Given the description of an element on the screen output the (x, y) to click on. 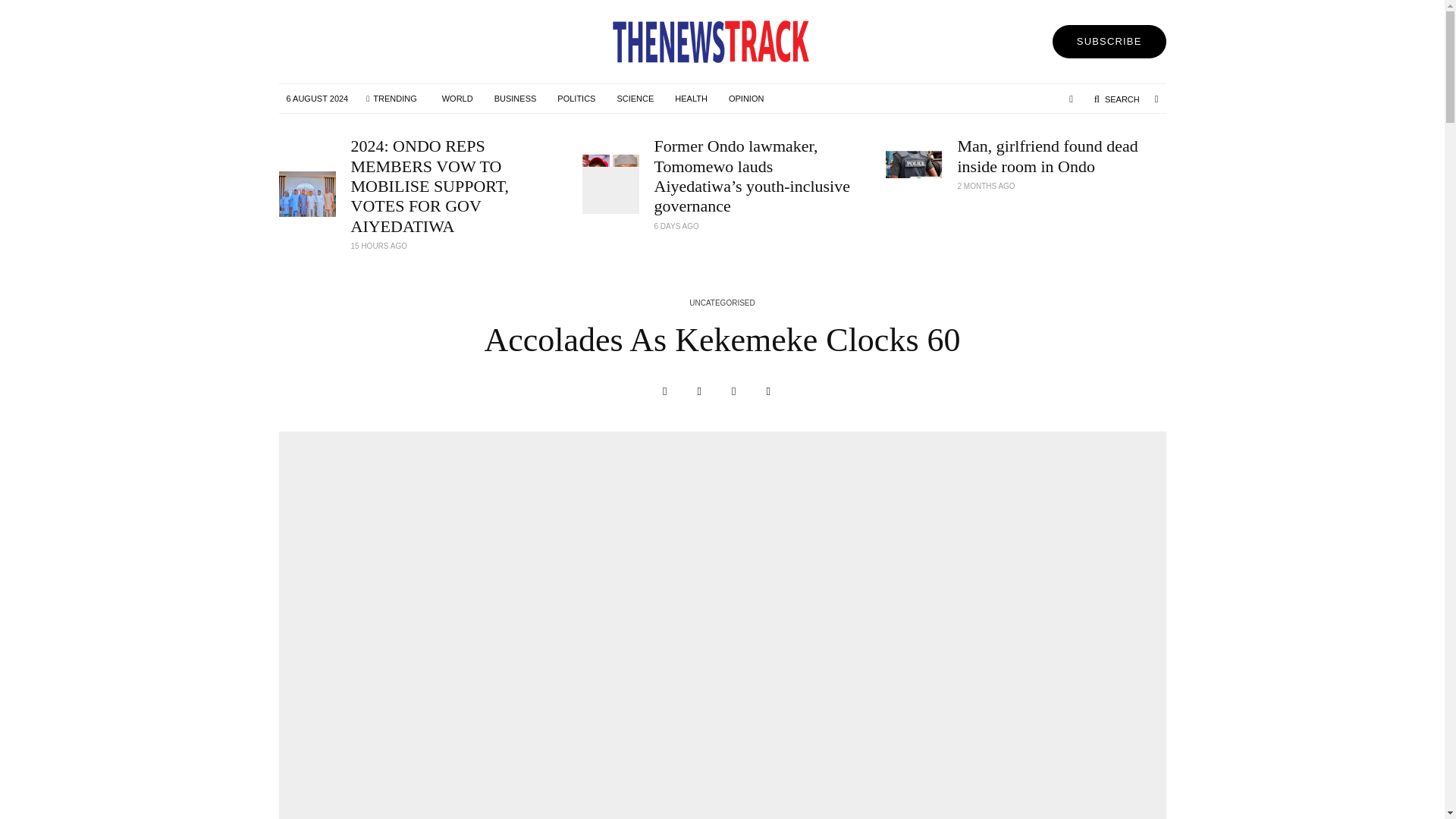
SCIENCE (634, 98)
WORLD (456, 98)
Man, girlfriend found dead inside room in Ondo (1061, 156)
OPINION (745, 98)
SUBSCRIBE (1109, 41)
UNCATEGORISED (721, 303)
TRENDING (390, 98)
SEARCH (1116, 98)
POLITICS (576, 98)
HEALTH (690, 98)
BUSINESS (515, 98)
